Given the description of an element on the screen output the (x, y) to click on. 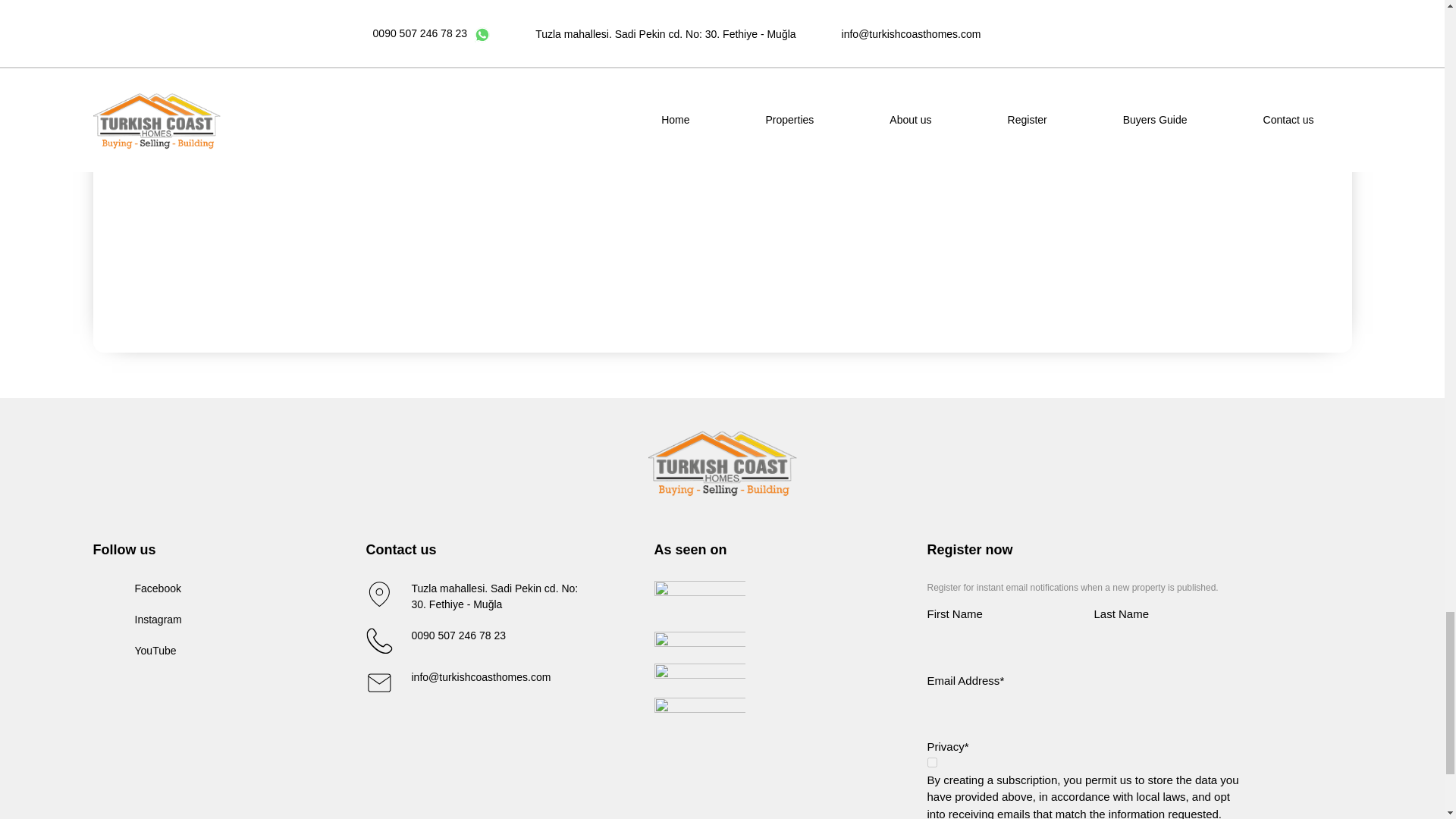
1 (931, 762)
